Given the description of an element on the screen output the (x, y) to click on. 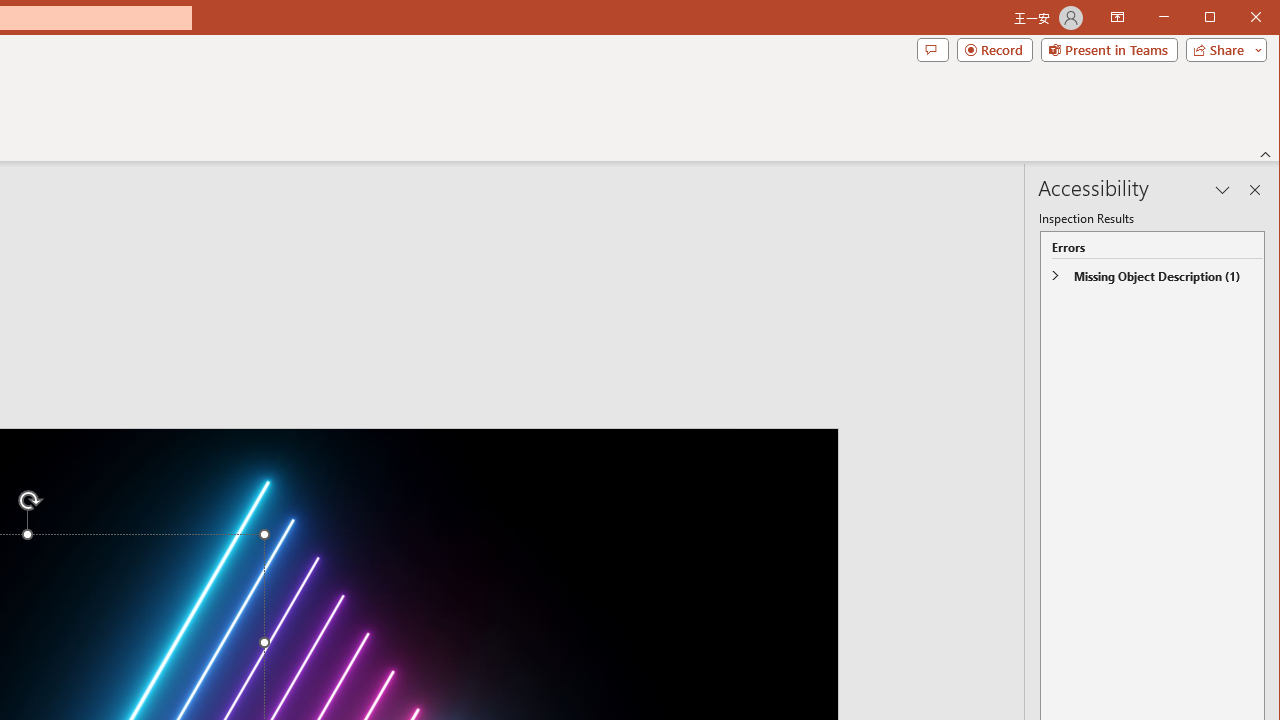
Maximize (1238, 18)
